Given the description of an element on the screen output the (x, y) to click on. 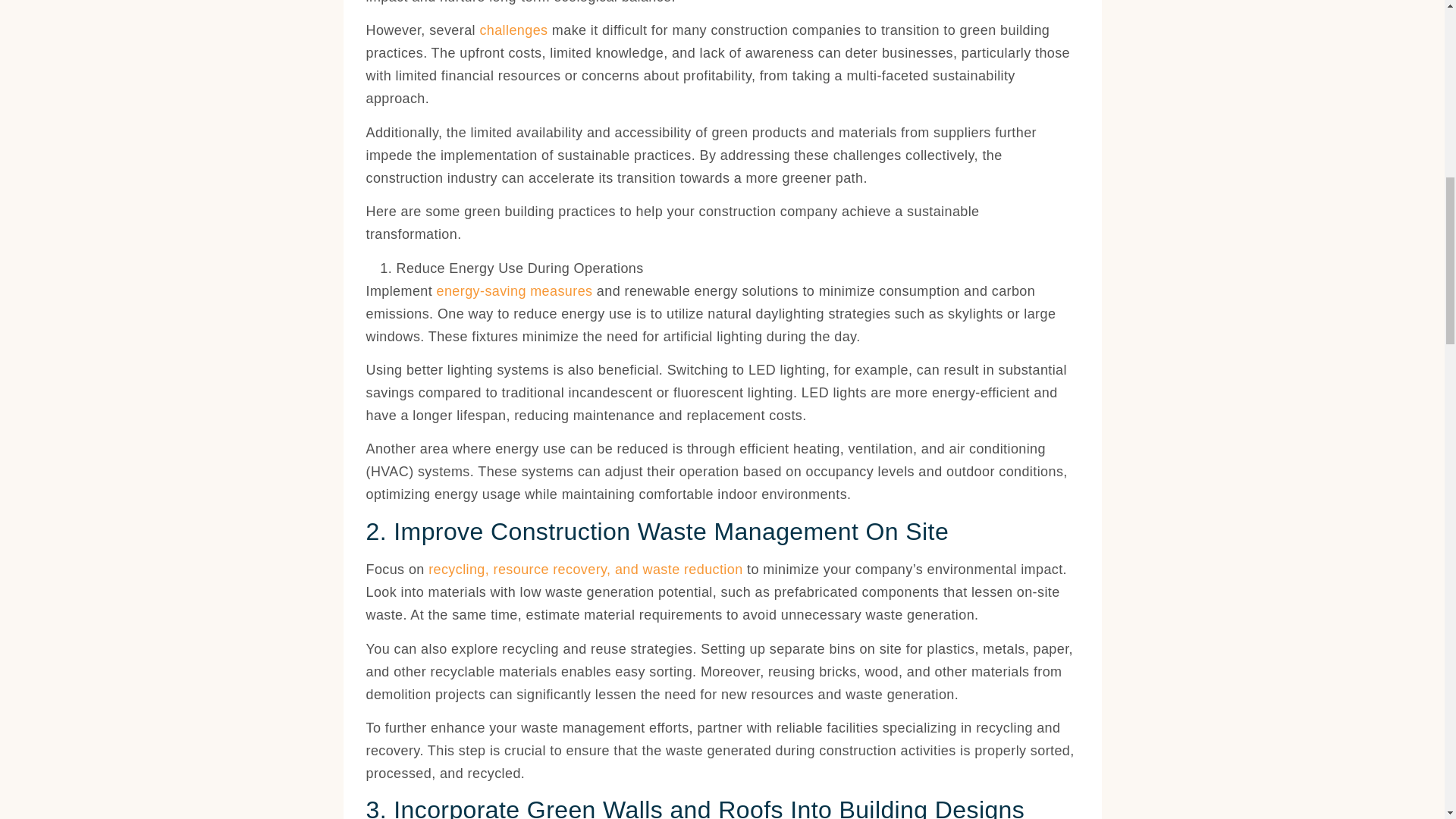
recycling, resource recovery, and waste reduction (585, 569)
challenges (513, 29)
energy-saving measures (514, 290)
